Given the description of an element on the screen output the (x, y) to click on. 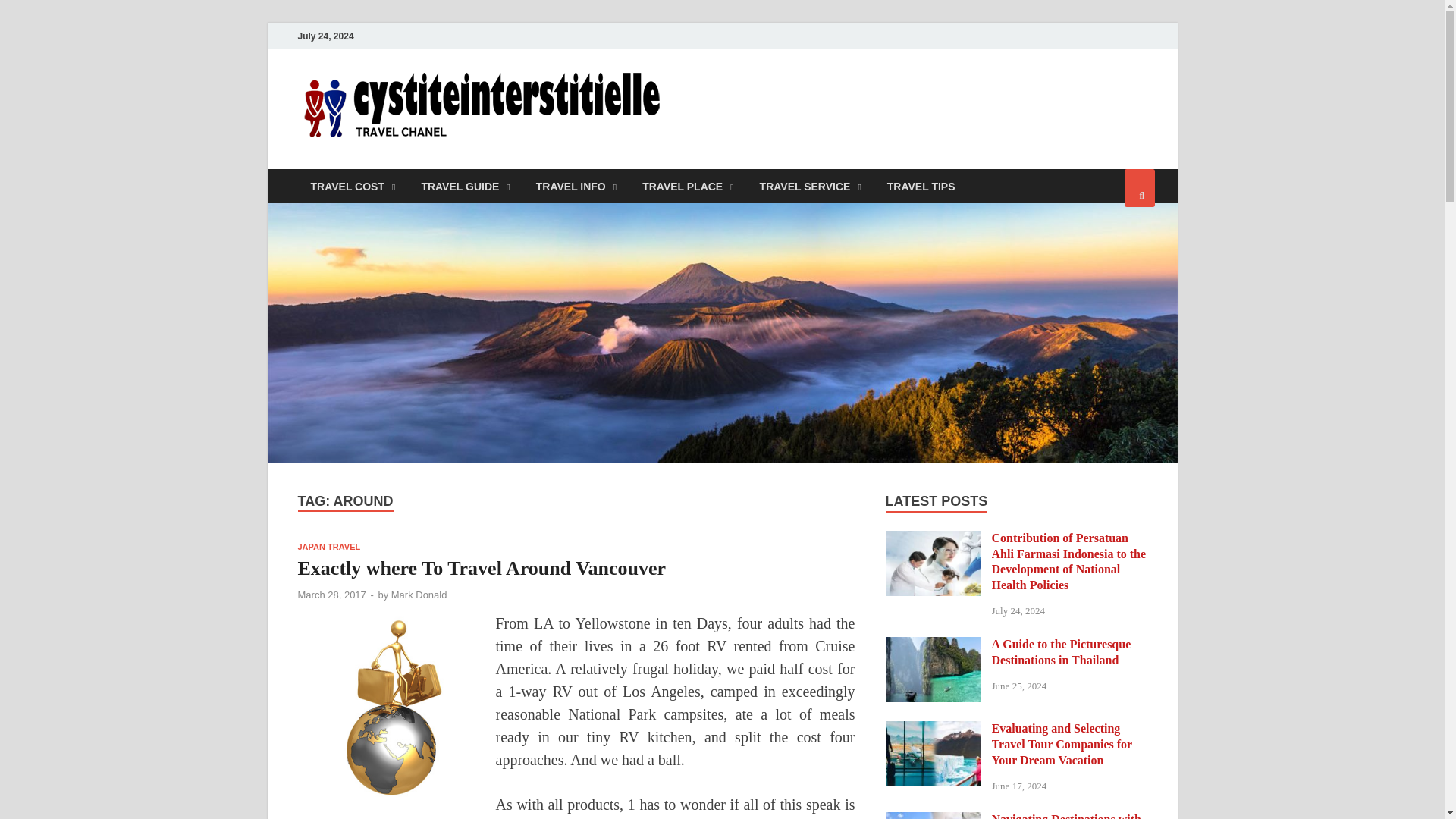
TRAVEL INFO (575, 185)
cystiteinterstitielle (792, 100)
TRAVEL PLACE (686, 185)
TRAVEL COST (352, 185)
TRAVEL TIPS (921, 185)
A Guide to the Picturesque Destinations in Thailand (932, 645)
TRAVEL GUIDE (464, 185)
